Given the description of an element on the screen output the (x, y) to click on. 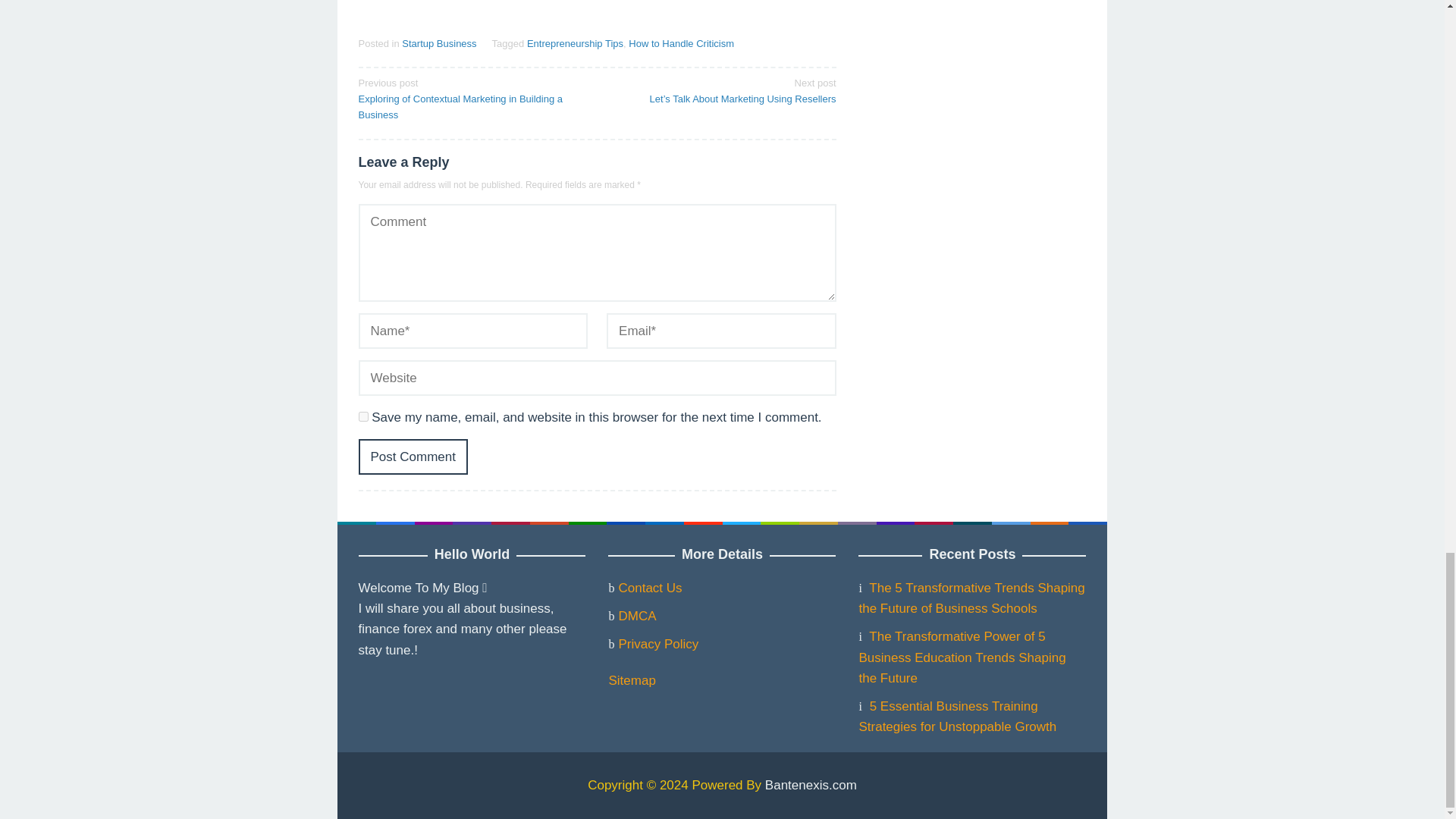
Startup Business (438, 43)
Entrepreneurship Tips (575, 43)
Post Comment (412, 456)
Post Comment (412, 456)
How to Handle Criticism (680, 43)
yes (363, 416)
